Given the description of an element on the screen output the (x, y) to click on. 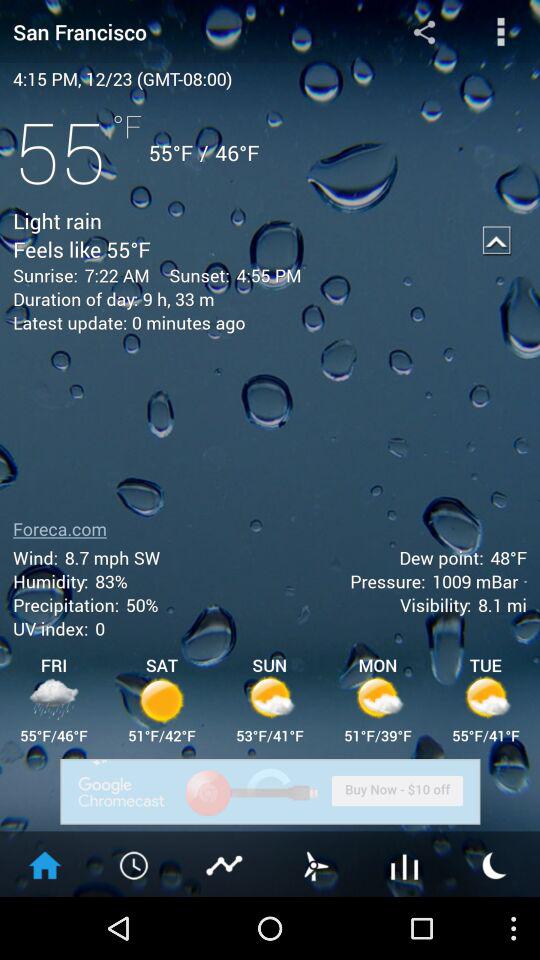
clock (135, 864)
